Given the description of an element on the screen output the (x, y) to click on. 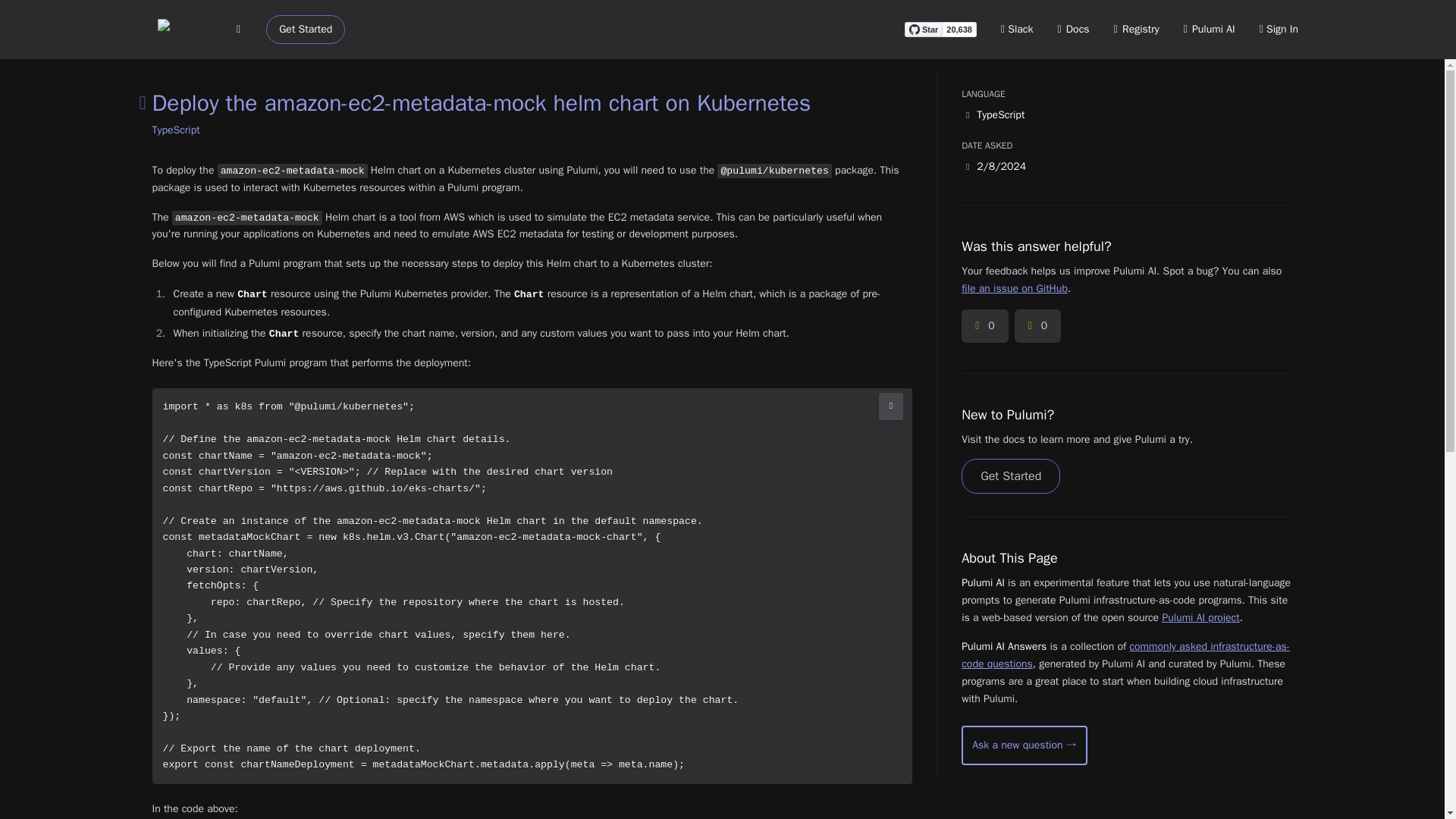
20,638 (959, 29)
Registry (1135, 29)
0 (984, 326)
Docs (1073, 29)
Slack (1017, 29)
Sign In (1278, 29)
Upvote this answer (984, 326)
Start a new conversation with Pulumi AI (1023, 744)
Downvote this answer (1037, 326)
Get Started (305, 29)
file an issue on GitHub (1013, 287)
0 (1037, 326)
 Star (923, 29)
Pulumi AI (1208, 29)
